Given the description of an element on the screen output the (x, y) to click on. 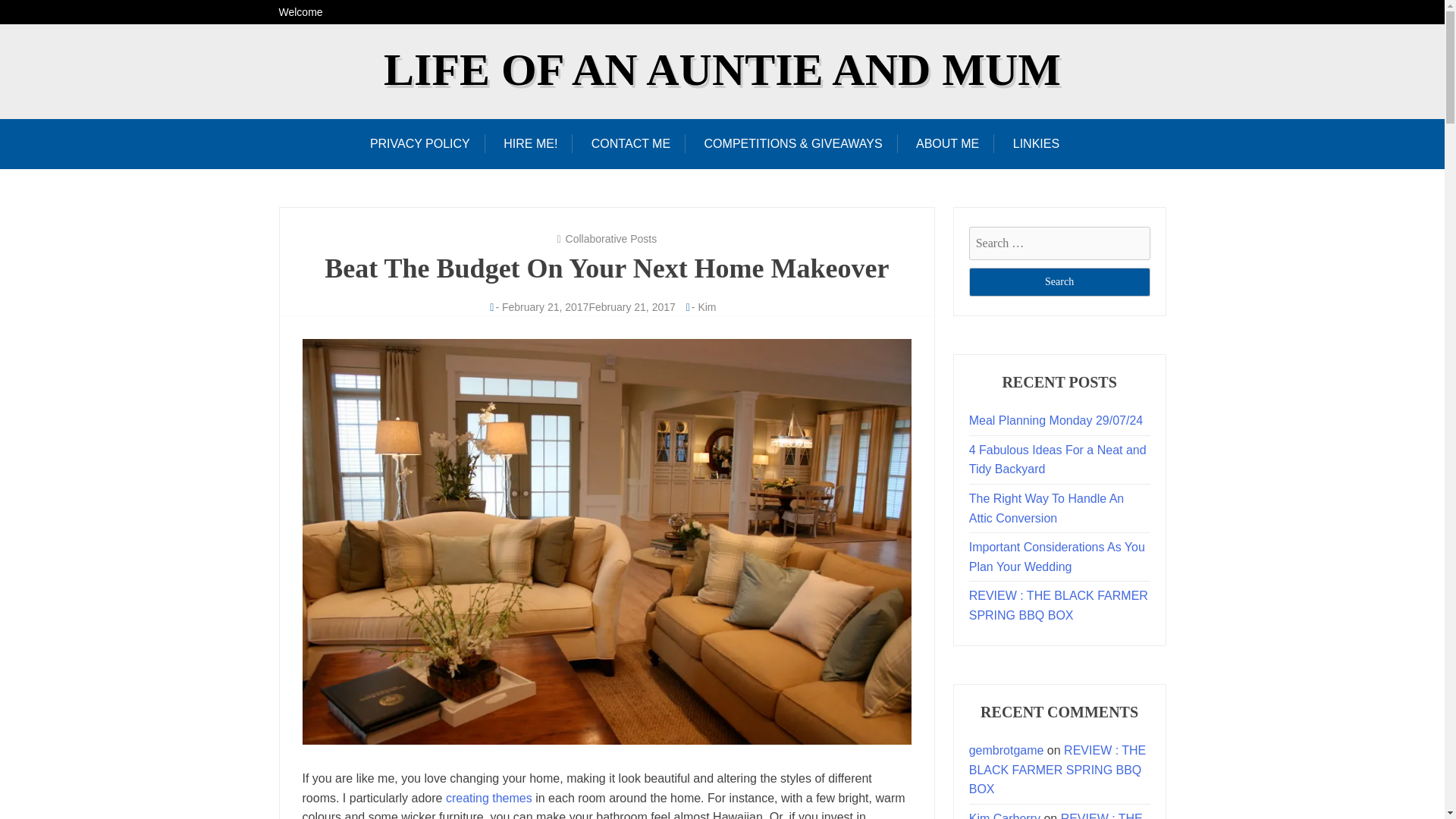
Search (1059, 281)
The Right Way To Handle An Attic Conversion (1046, 508)
4 Fabulous Ideas For a Neat and Tidy Backyard (1058, 459)
REVIEW : THE BLACK FARMER SPRING BBQ BOX (1058, 769)
LIFE OF AN AUNTIE AND MUM (722, 70)
REVIEW : THE BLACK FARMER SPRING BBQ BOX (1055, 815)
Collaborative Posts (612, 238)
ABOUT ME (947, 143)
creating themes (488, 797)
February 21, 2017February 21, 2017 (588, 306)
REVIEW : THE BLACK FARMER SPRING BBQ BOX (1058, 604)
gembrotgame (1006, 749)
HIRE ME! (529, 143)
Kim Carberry (1005, 815)
PRIVACY POLICY (426, 143)
